Given the description of an element on the screen output the (x, y) to click on. 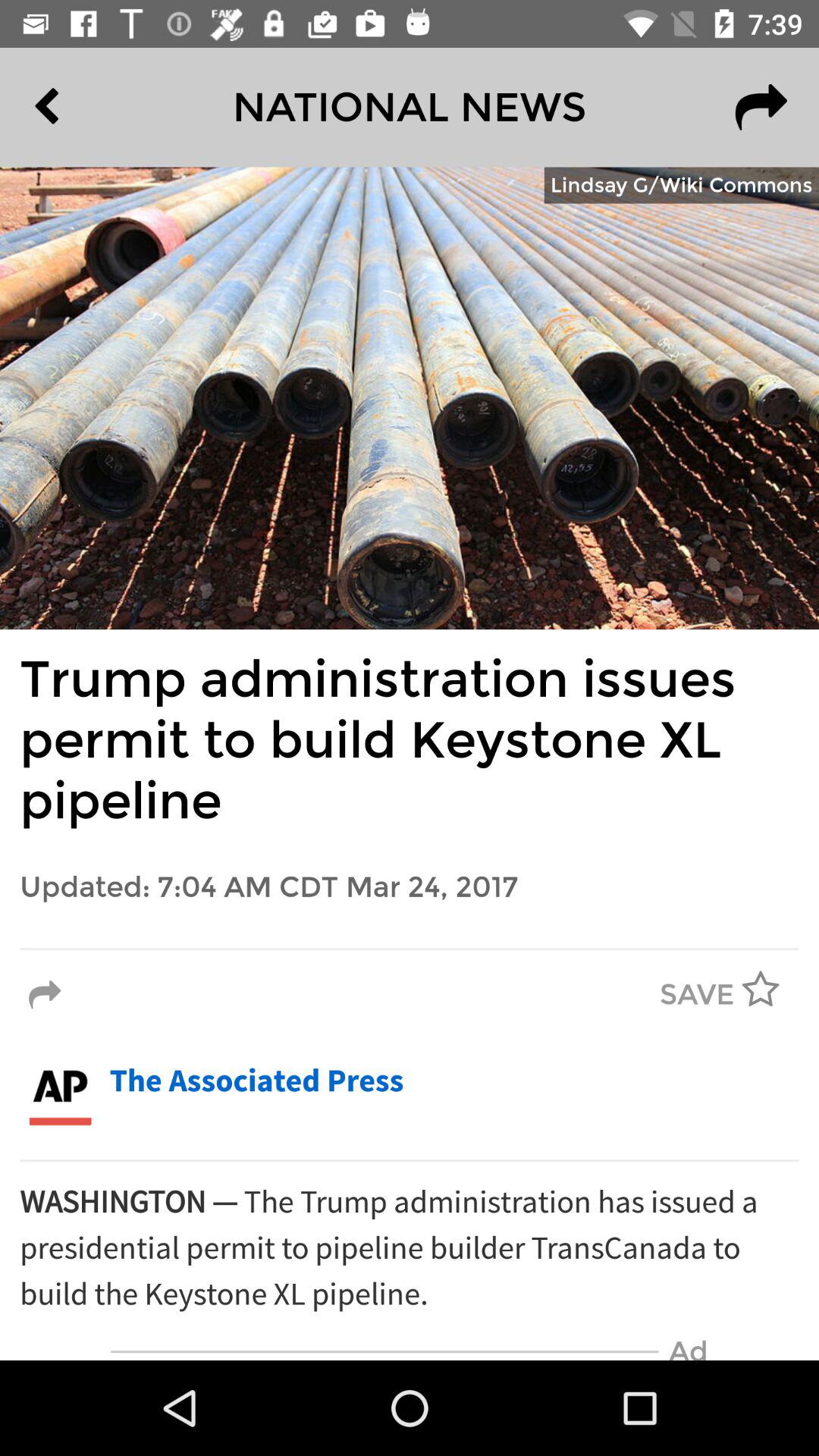
turn off item to the left of save item (44, 995)
